Given the description of an element on the screen output the (x, y) to click on. 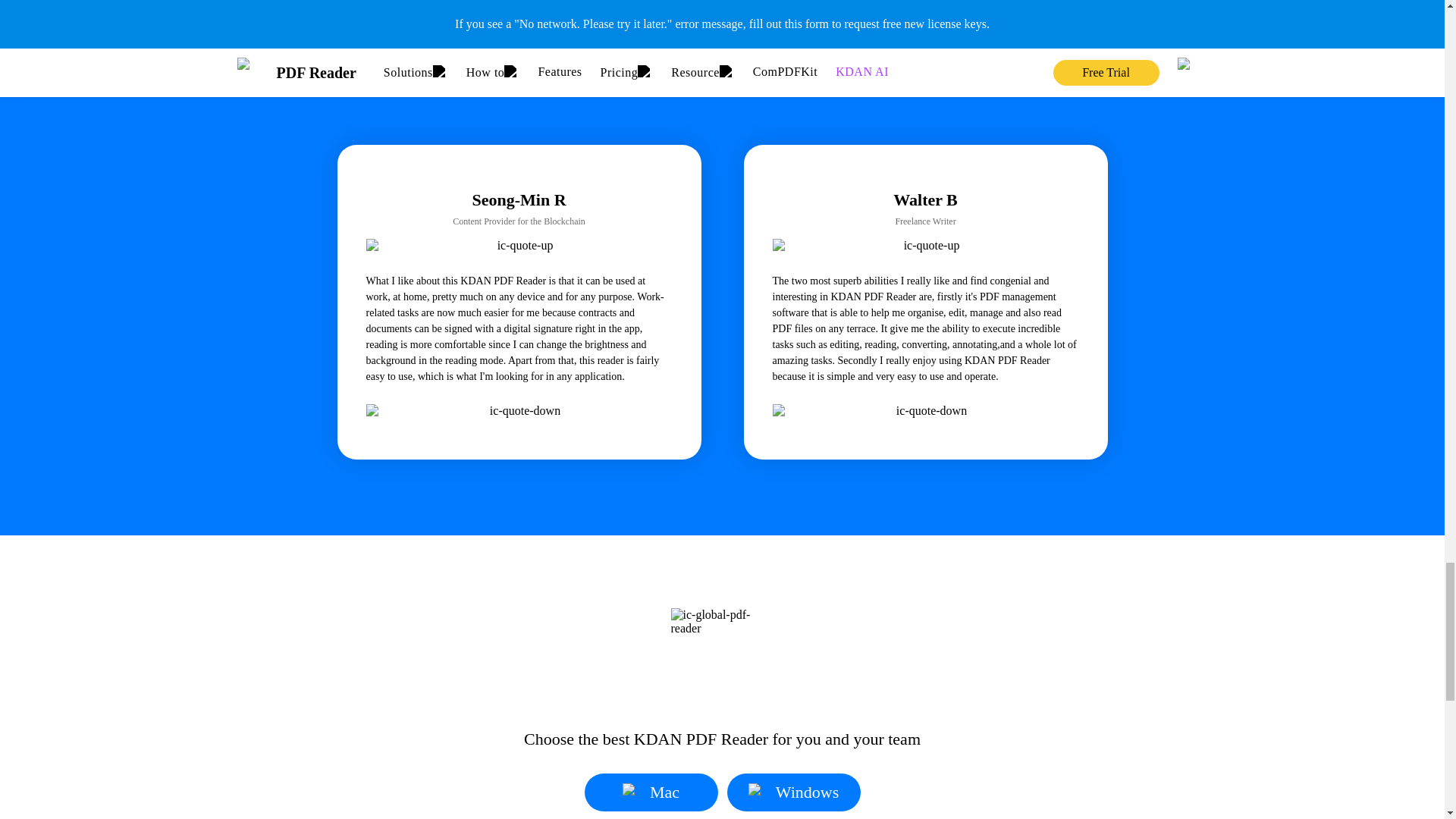
Windows (793, 792)
Mac (650, 792)
